Given the description of an element on the screen output the (x, y) to click on. 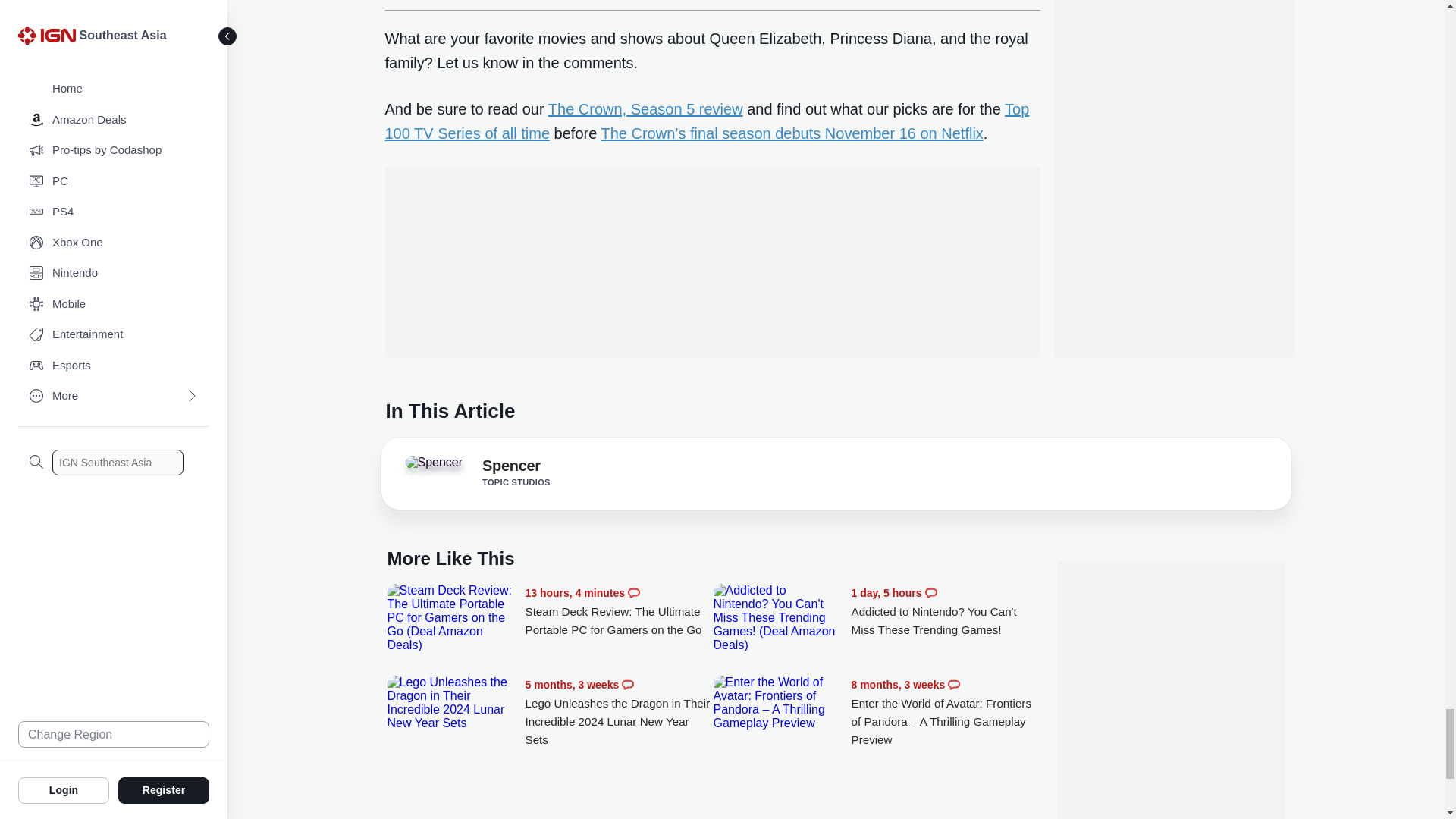
Comments (633, 592)
Spencer (439, 467)
Addicted to Nintendo? You Can't Miss These Trending Games! (778, 617)
Comments (930, 592)
Spencer (433, 462)
Spencer (510, 468)
Addicted to Nintendo? You Can't Miss These Trending Games! (944, 611)
Comments (627, 684)
